Given the description of an element on the screen output the (x, y) to click on. 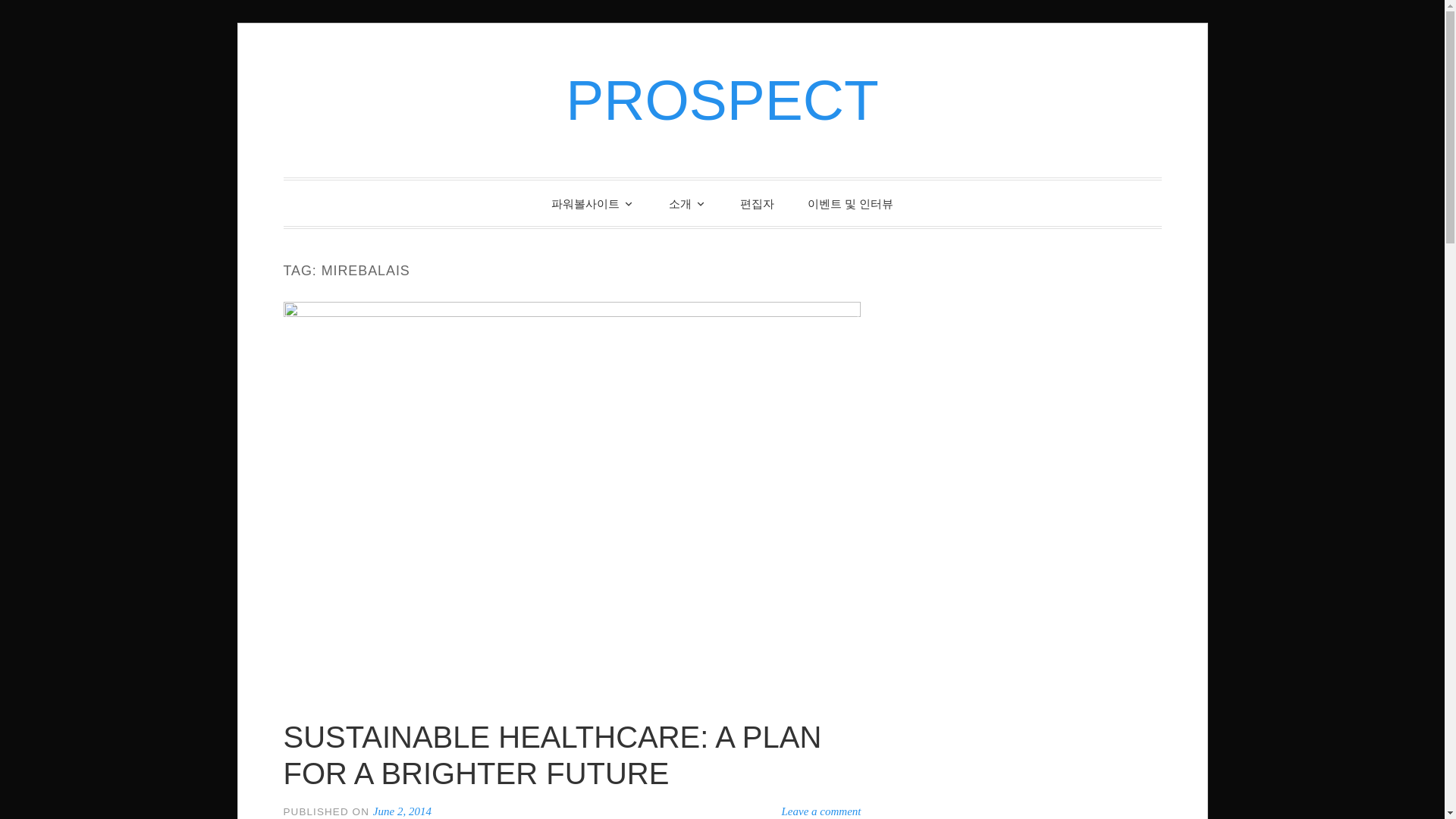
Leave a comment (821, 811)
June 2, 2014 (401, 811)
SUSTAINABLE HEALTHCARE: A PLAN FOR A BRIGHTER FUTURE (552, 755)
PROSPECT (722, 99)
